Given the description of an element on the screen output the (x, y) to click on. 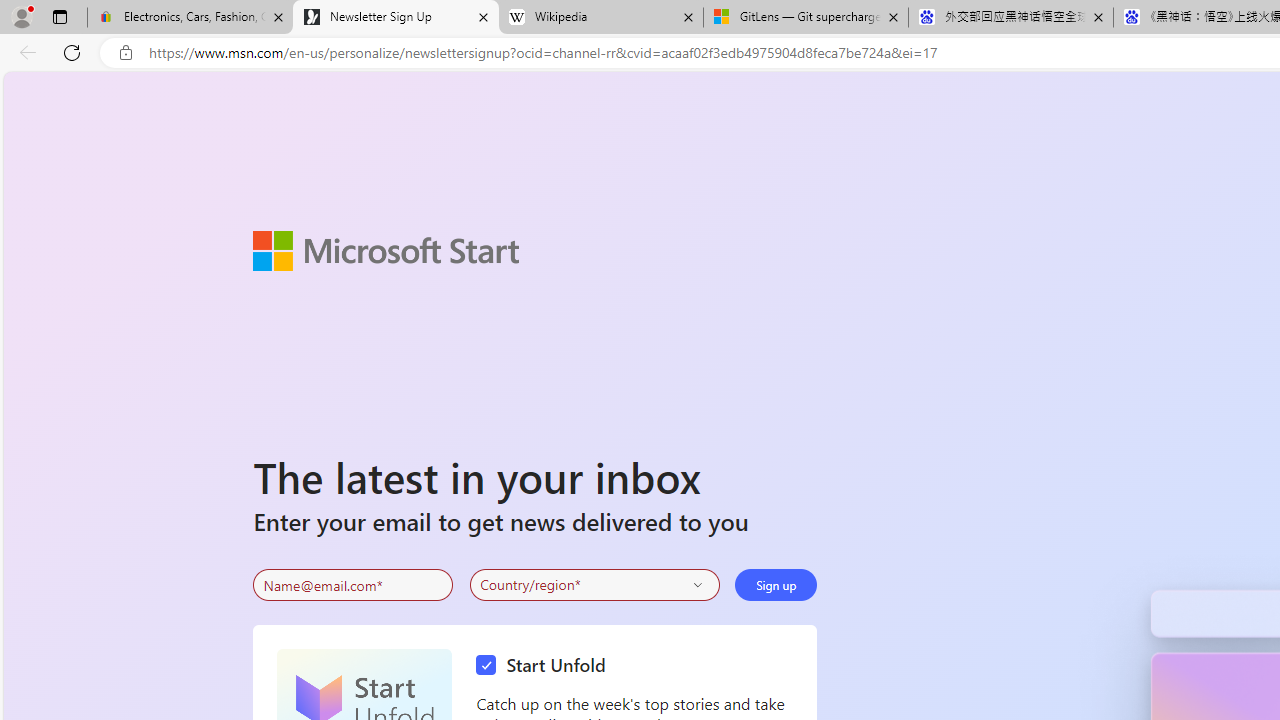
Start Unfold (545, 665)
Select your country (594, 584)
Enter your email (353, 585)
Newsletter Sign Up (395, 17)
Sign up (775, 584)
